Given the description of an element on the screen output the (x, y) to click on. 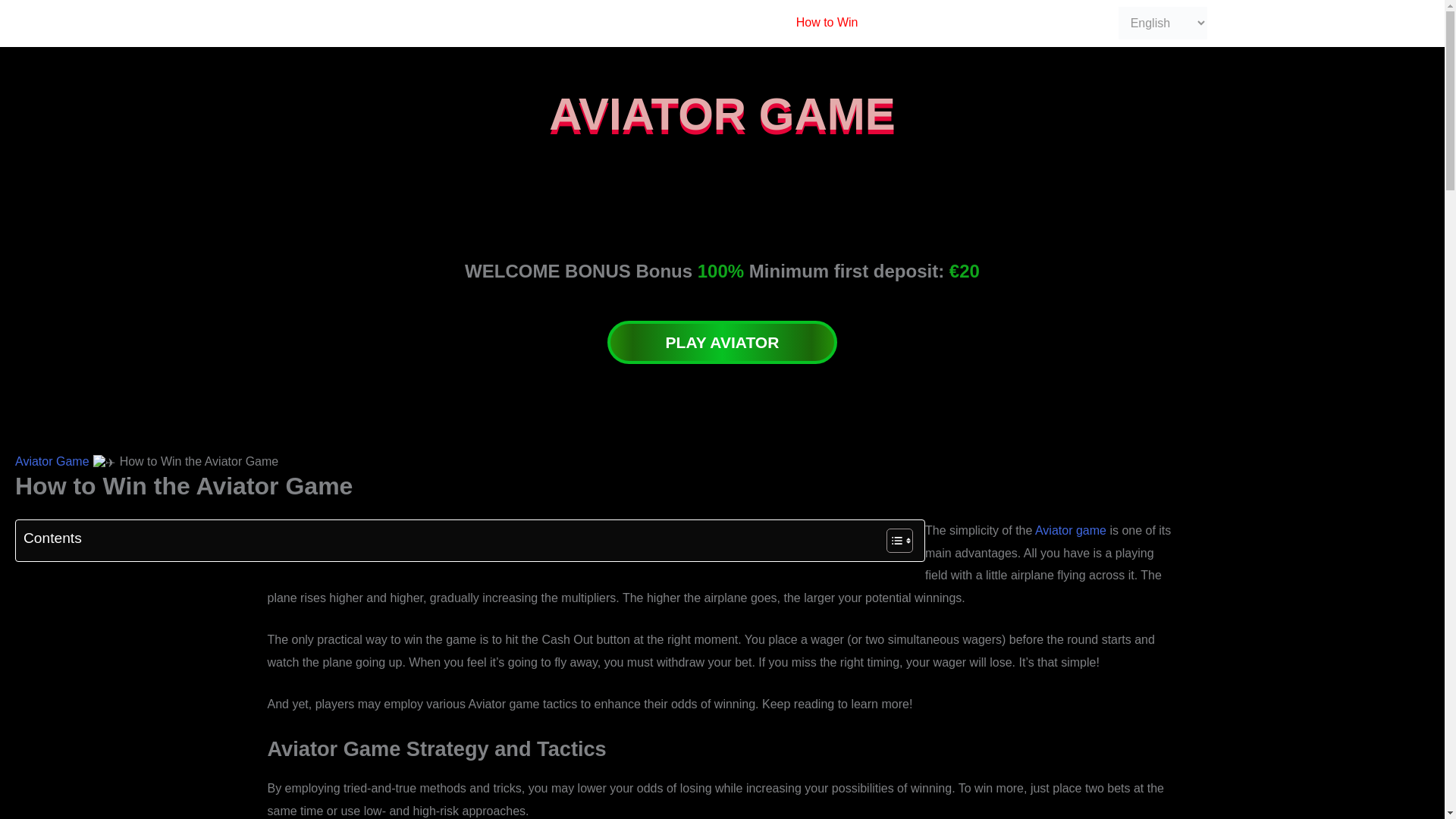
How to Win (827, 22)
Analysis (556, 22)
Bonus (675, 22)
Download (745, 22)
Predictor (484, 22)
More Games (1039, 22)
Demo (617, 22)
Where to Play (927, 22)
Aviator Game (398, 22)
